Given the description of an element on the screen output the (x, y) to click on. 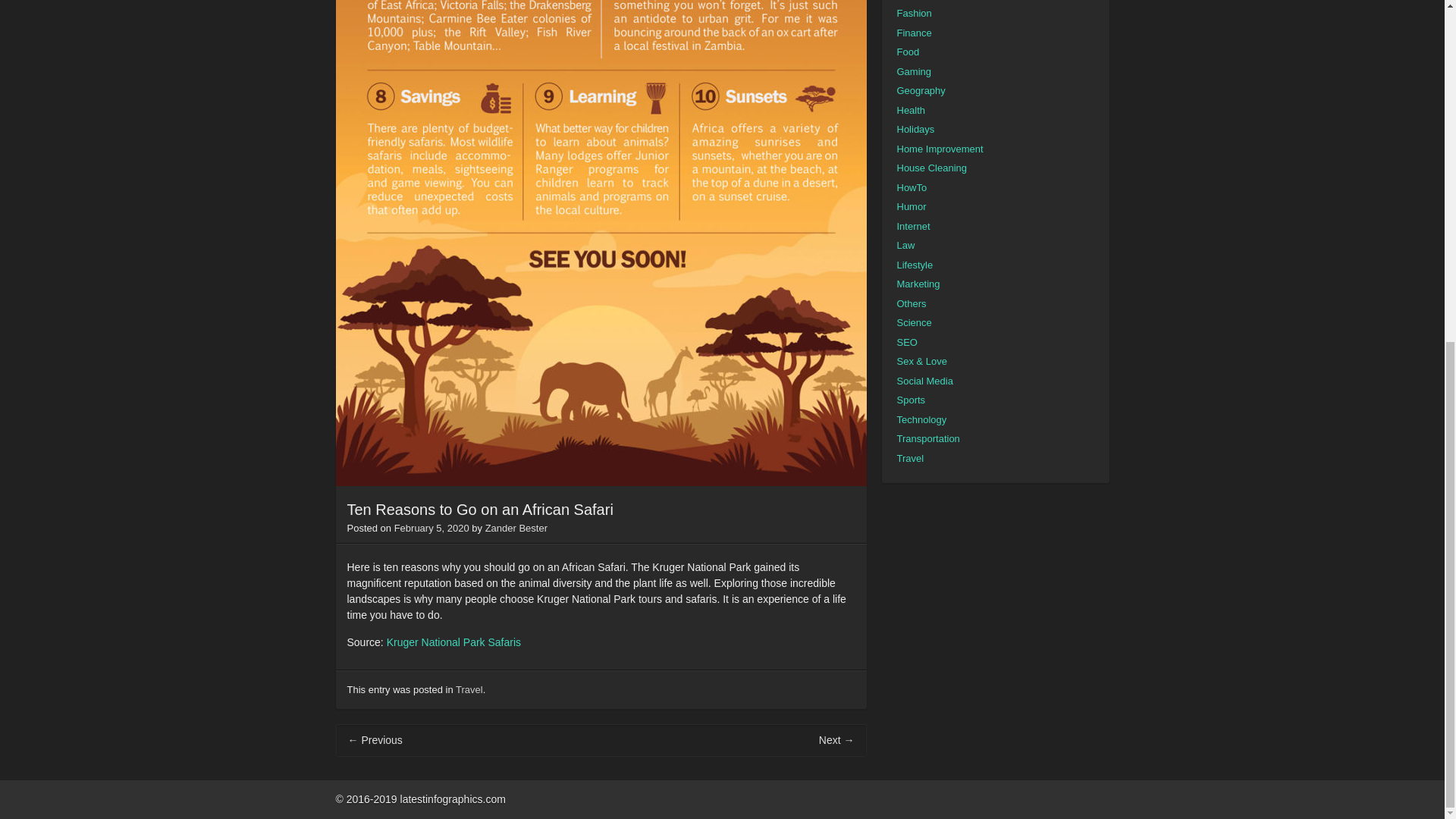
February 5, 2020 (431, 527)
Home Improvement (939, 148)
Geography (920, 90)
8:03 pm (431, 527)
Finance (913, 31)
Holidays (915, 129)
Health (910, 109)
Fashion (913, 12)
Food (907, 51)
Zander Bester (515, 527)
